Given the description of an element on the screen output the (x, y) to click on. 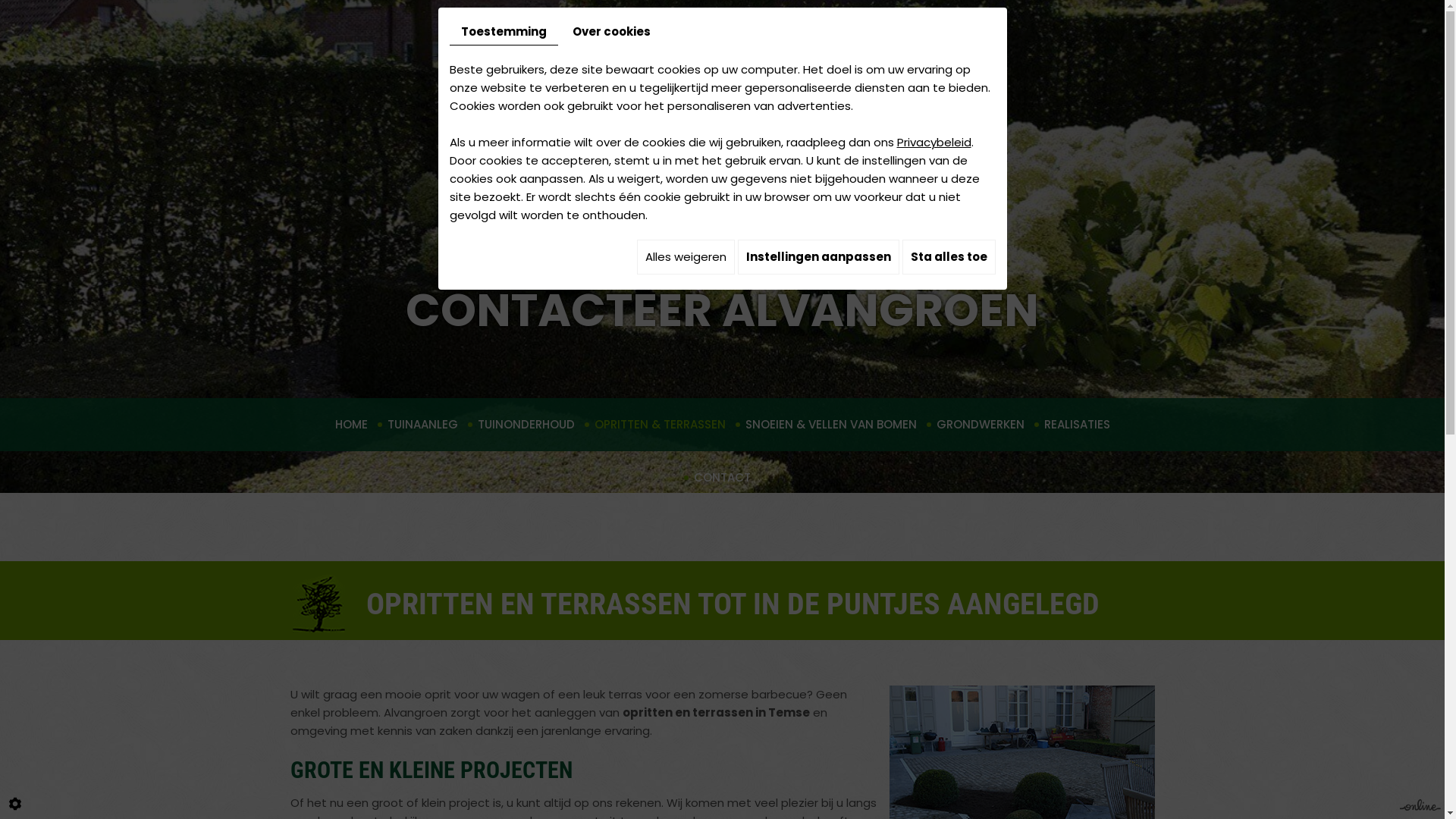
HOME Element type: text (350, 424)
Toestemming Element type: text (502, 31)
TUINONDERHOUD Element type: text (525, 424)
Sta alles toe Element type: text (948, 256)
TUINAANLEG Element type: text (422, 424)
# Element type: text (722, 299)
Alvangroen - Tuinaannemer Element type: hover (722, 141)
REALISATIES Element type: text (1076, 424)
Over cookies Element type: text (611, 31)
Privacybeleid Element type: text (933, 142)
Cookie-instelling bewerken Element type: text (14, 803)
GRONDWERKEN Element type: text (980, 424)
CONTACT Element type: text (722, 477)
OPRITTEN & TERRASSEN Element type: text (659, 424)
SNOEIEN & VELLEN VAN BOMEN Element type: text (831, 424)
Alles weigeren Element type: text (685, 256)
Instellingen aanpassen Element type: text (817, 256)
